Given the description of an element on the screen output the (x, y) to click on. 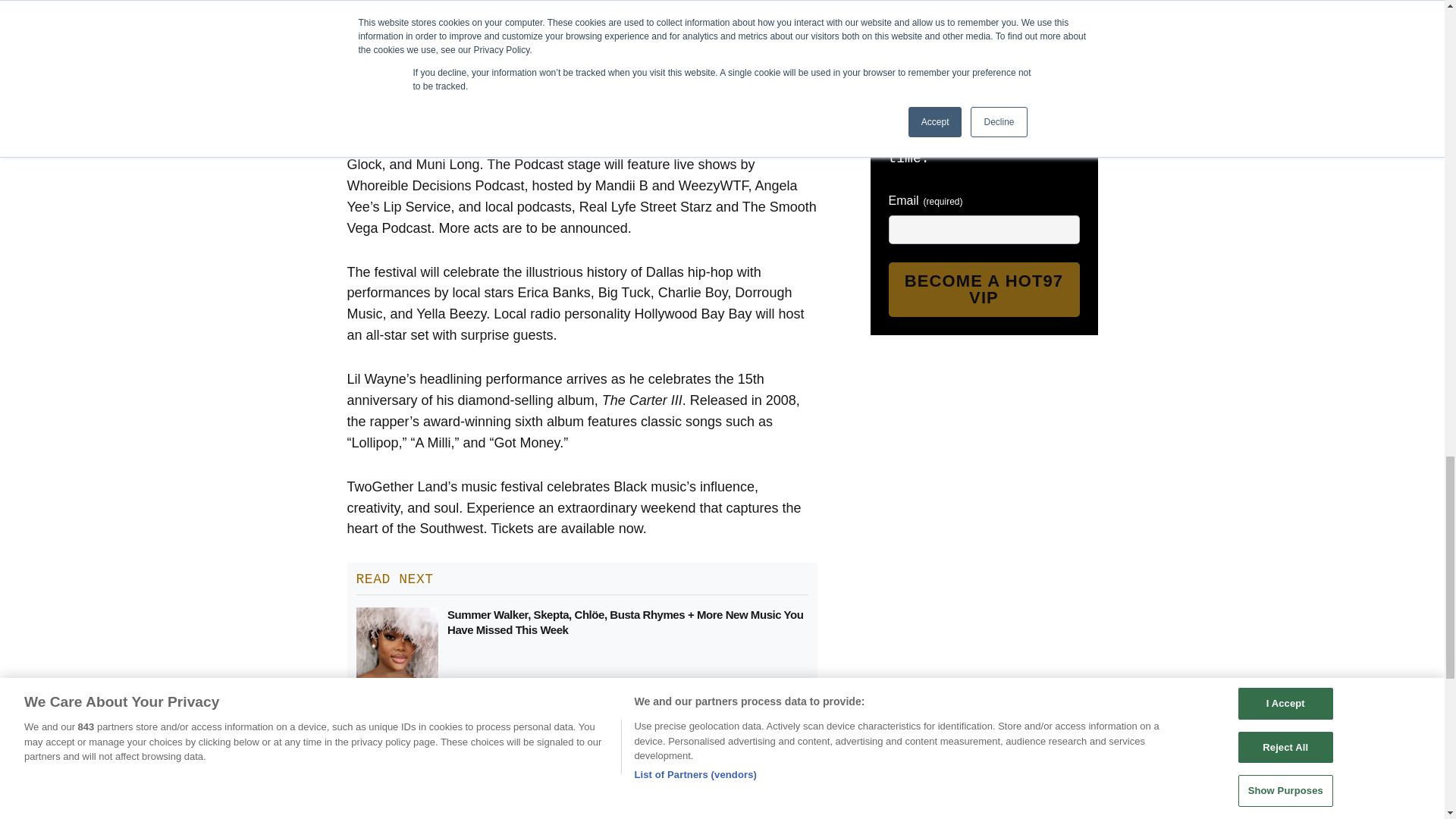
Mariah The Scientist (672, 142)
BECOME A HOT97 VIP (984, 289)
Jeezy (586, 142)
